Given the description of an element on the screen output the (x, y) to click on. 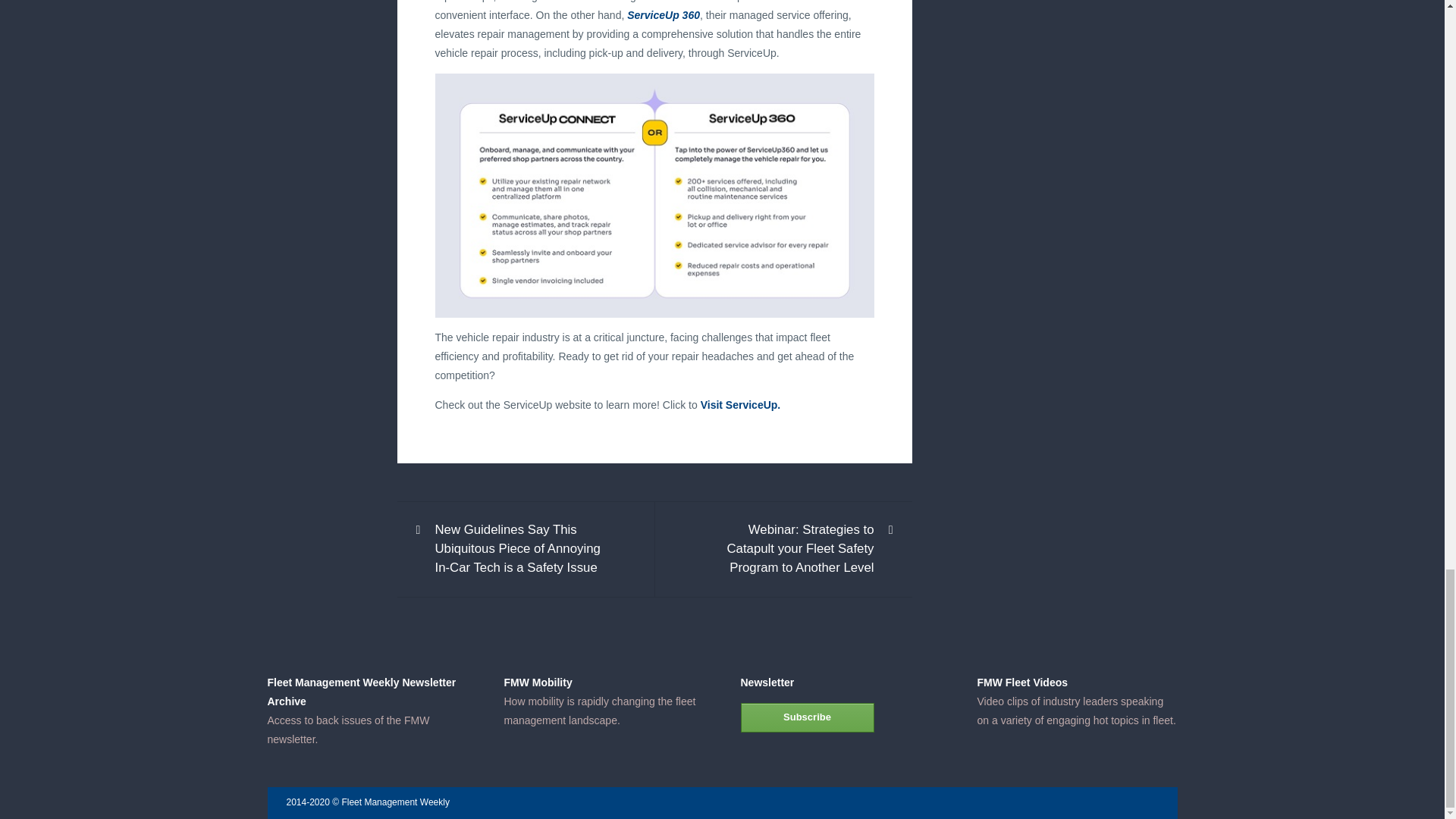
Visit ServiceUp. (740, 404)
FMW Fleet Videos (1021, 682)
FMW Mobility (537, 682)
Fleet Management Weekly Newsletter Archive (360, 691)
Previous (523, 549)
Subscribe (806, 717)
Next (786, 549)
ServiceUp 360 (663, 15)
